Given the description of an element on the screen output the (x, y) to click on. 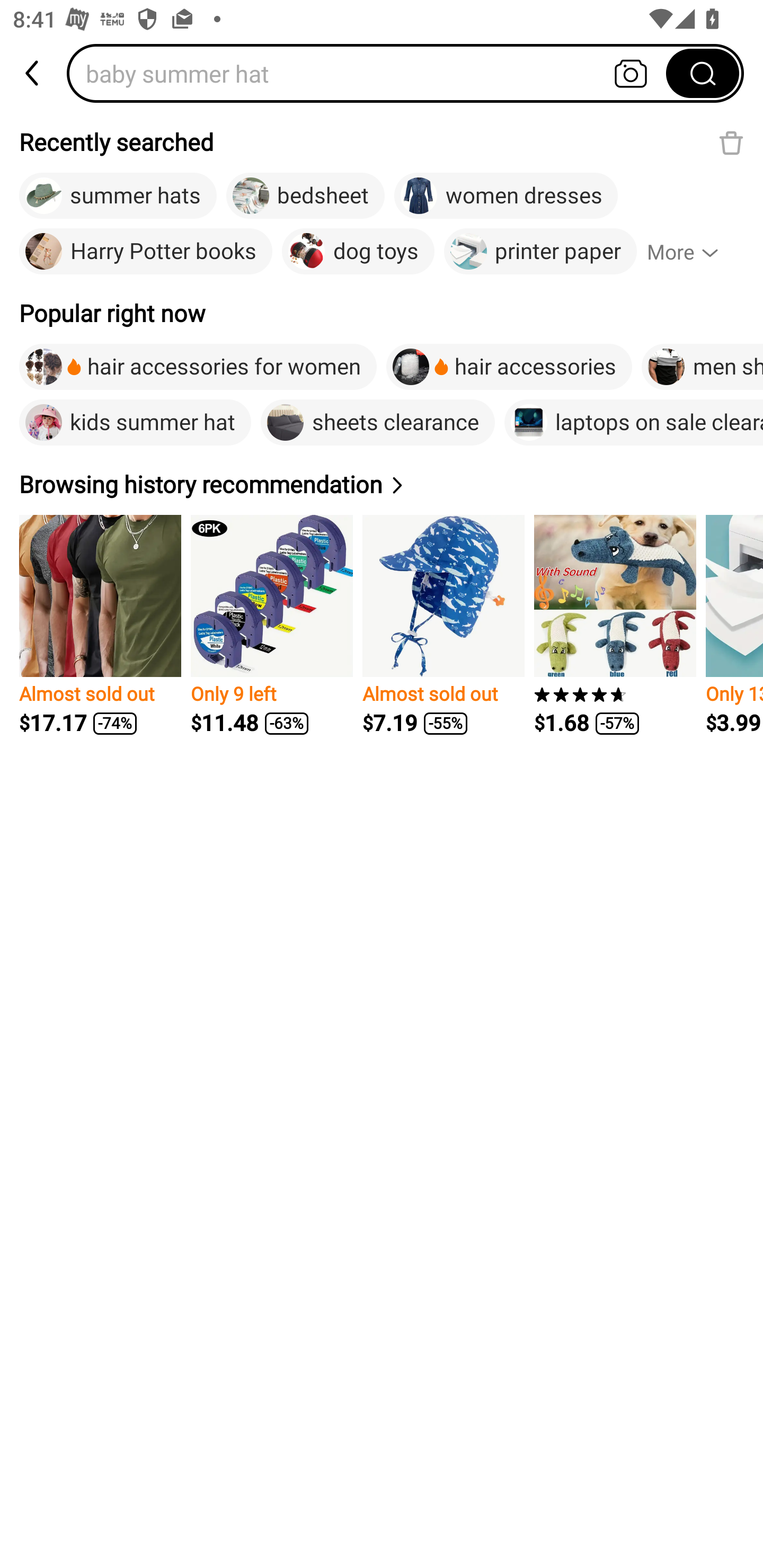
back (33, 72)
baby summer hat (372, 73)
Search by photo (630, 73)
Delete recent search (731, 142)
summer hats (117, 195)
bedsheet (305, 195)
women dresses (506, 195)
Harry Potter books (145, 251)
dog toys (357, 251)
printer paper (540, 251)
More (690, 251)
hair accessories for women (197, 366)
hair accessories (508, 366)
men shirts clearance sale (702, 366)
kids summer hat (135, 422)
sheets clearance (377, 422)
laptops on sale clearance (633, 422)
Browsing history recommendation (213, 484)
Almost sold out $17.17 -74% (100, 625)
Only 9 left $11.48 -63% (271, 625)
Almost sold out $7.19 -55% (443, 625)
$1.68 -57% (614, 625)
